Given the description of an element on the screen output the (x, y) to click on. 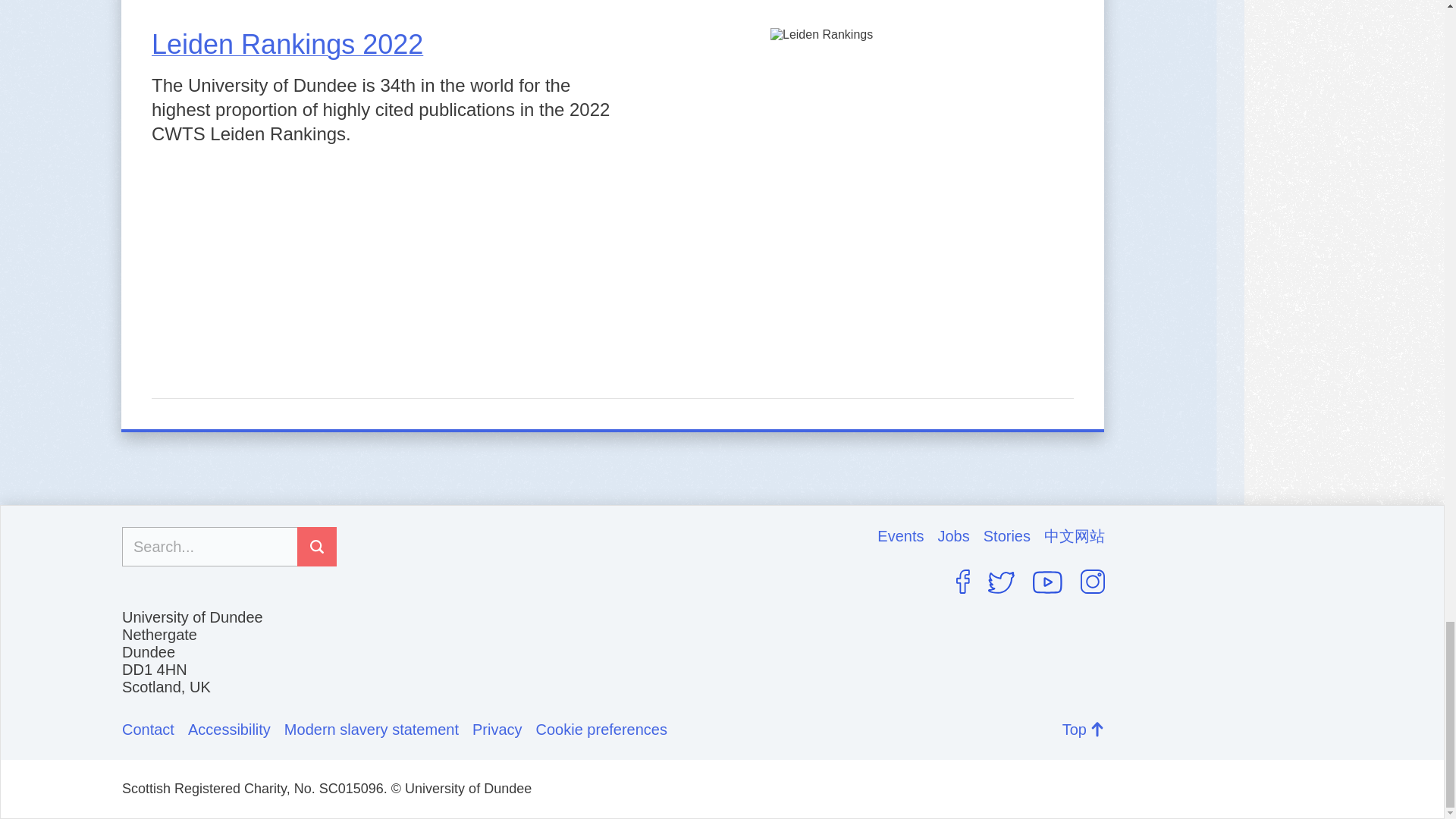
Explore our Chinese language website  (1074, 536)
Find events that are happening at the University of Dundee (907, 536)
Twitter (1001, 582)
Instagram (1092, 581)
Youtube (1047, 581)
